Given the description of an element on the screen output the (x, y) to click on. 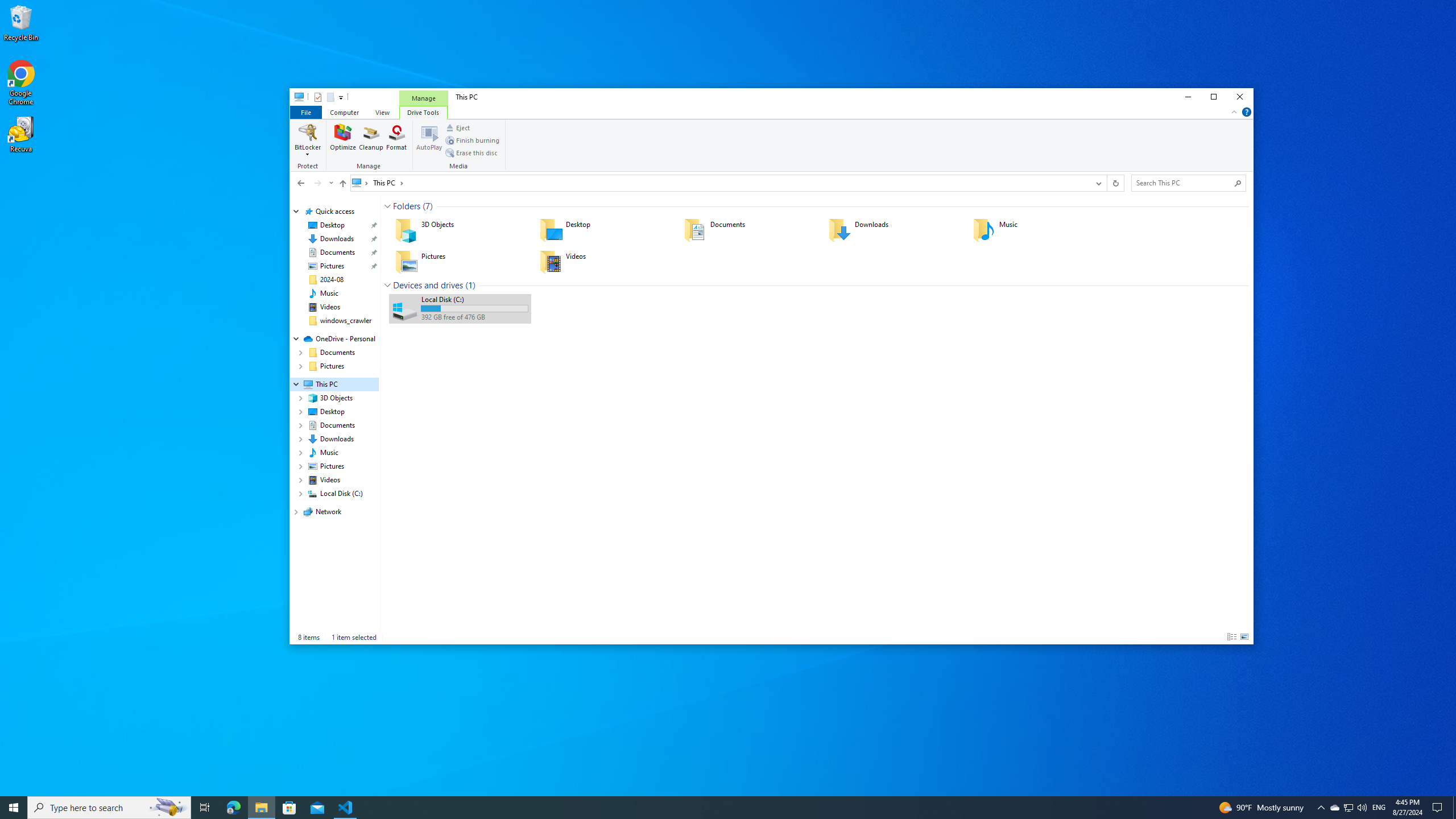
Computer (343, 111)
Action Center, No new notifications (1439, 807)
Downloads (pinned) (336, 238)
Videos (603, 261)
File tab (305, 111)
Erase this disc (471, 152)
Minimize the Ribbon (1233, 111)
Search (1238, 182)
Back to Local Disk (C:) (Alt + Left Arrow) (300, 182)
Search Box (1182, 182)
Format (396, 140)
AutoPlay (429, 140)
Task View (204, 807)
